Given the description of an element on the screen output the (x, y) to click on. 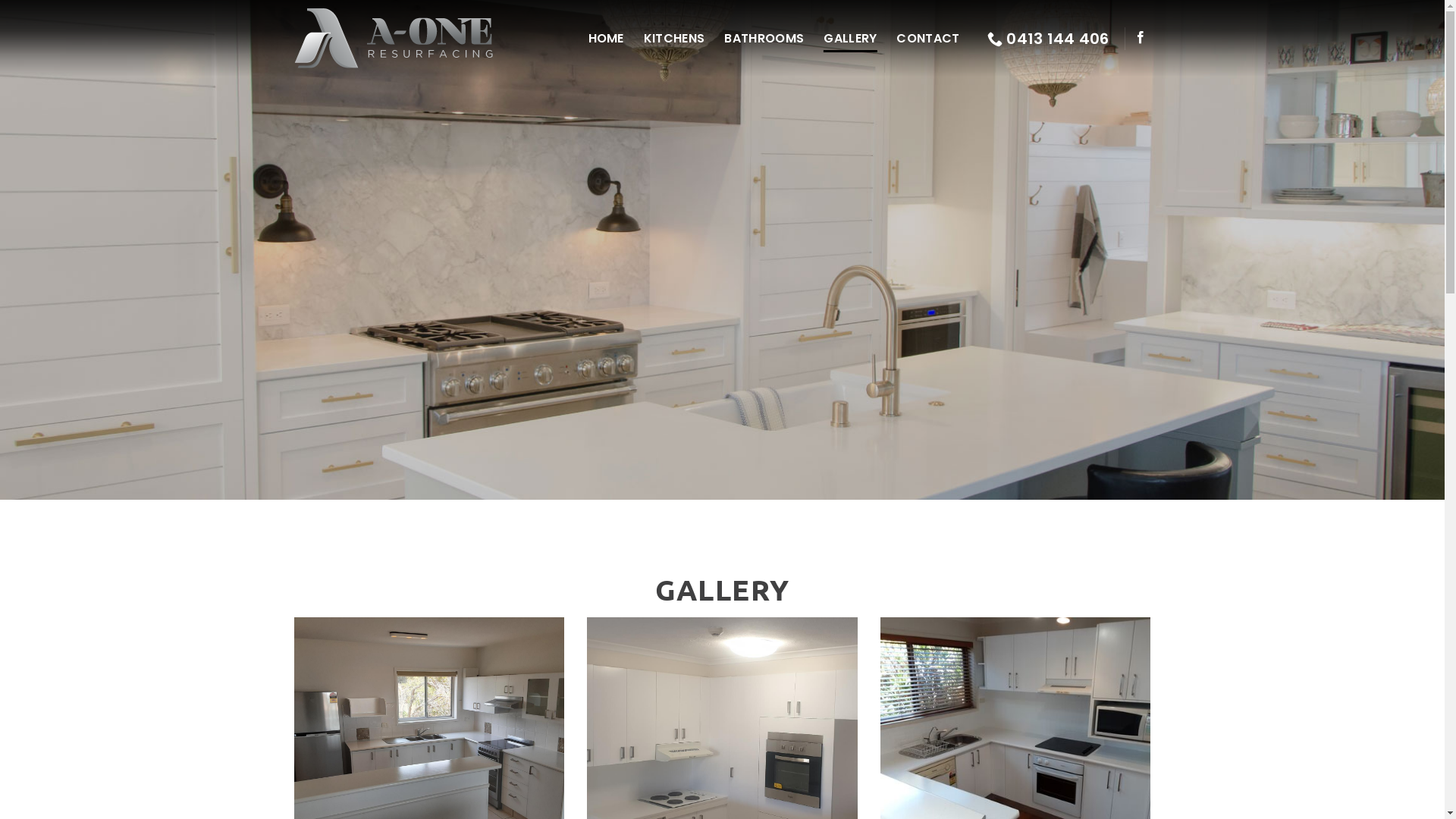
0413 144 406 Element type: text (1047, 37)
Follow on Facebook Element type: hover (1140, 37)
HOME Element type: text (606, 37)
BATHROOMS Element type: text (763, 37)
GALLERY Element type: text (849, 37)
CONTACT Element type: text (927, 37)
KITCHENS Element type: text (674, 37)
